Given the description of an element on the screen output the (x, y) to click on. 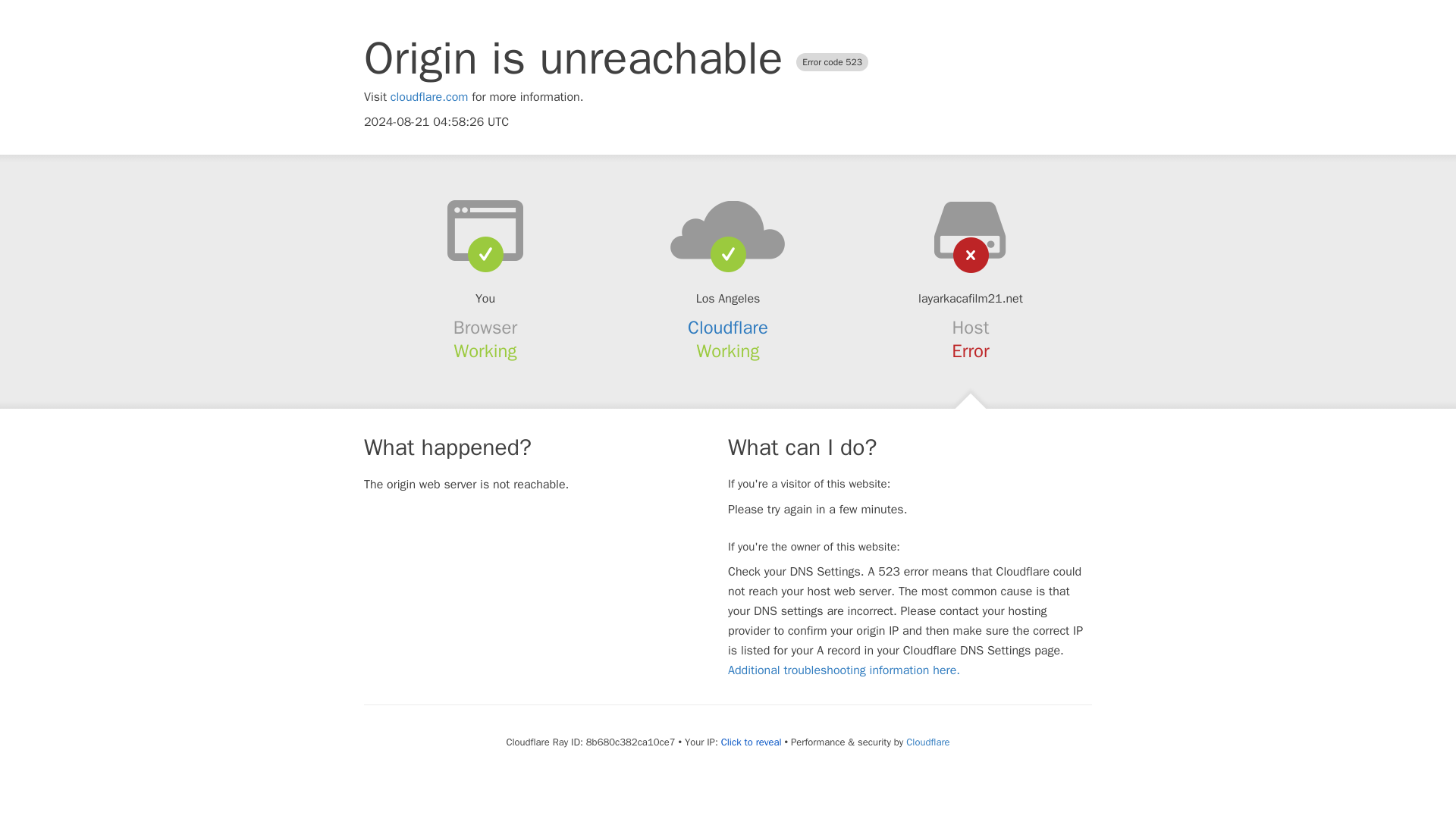
Click to reveal (750, 742)
Cloudflare (727, 327)
cloudflare.com (429, 96)
Additional troubleshooting information here. (843, 670)
Cloudflare (927, 741)
